Given the description of an element on the screen output the (x, y) to click on. 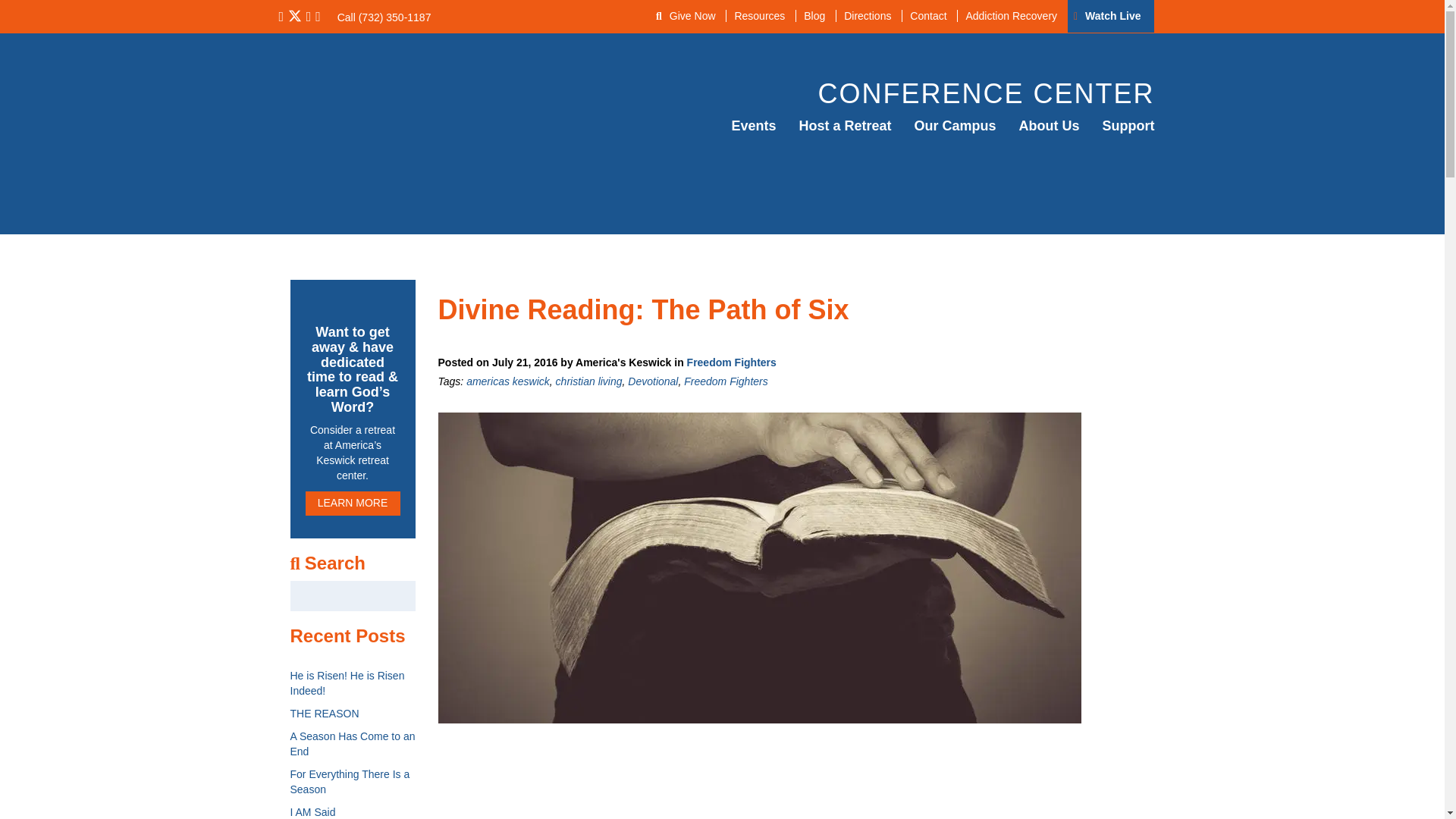
Watch Live (1112, 15)
Events (753, 125)
Addiction Recovery (1010, 15)
Give Now (692, 15)
Blog (813, 15)
Christian Events in NJ (753, 125)
Directions (866, 15)
Resources (758, 15)
Contact (927, 15)
Christian Retreat Center (844, 125)
